Given the description of an element on the screen output the (x, y) to click on. 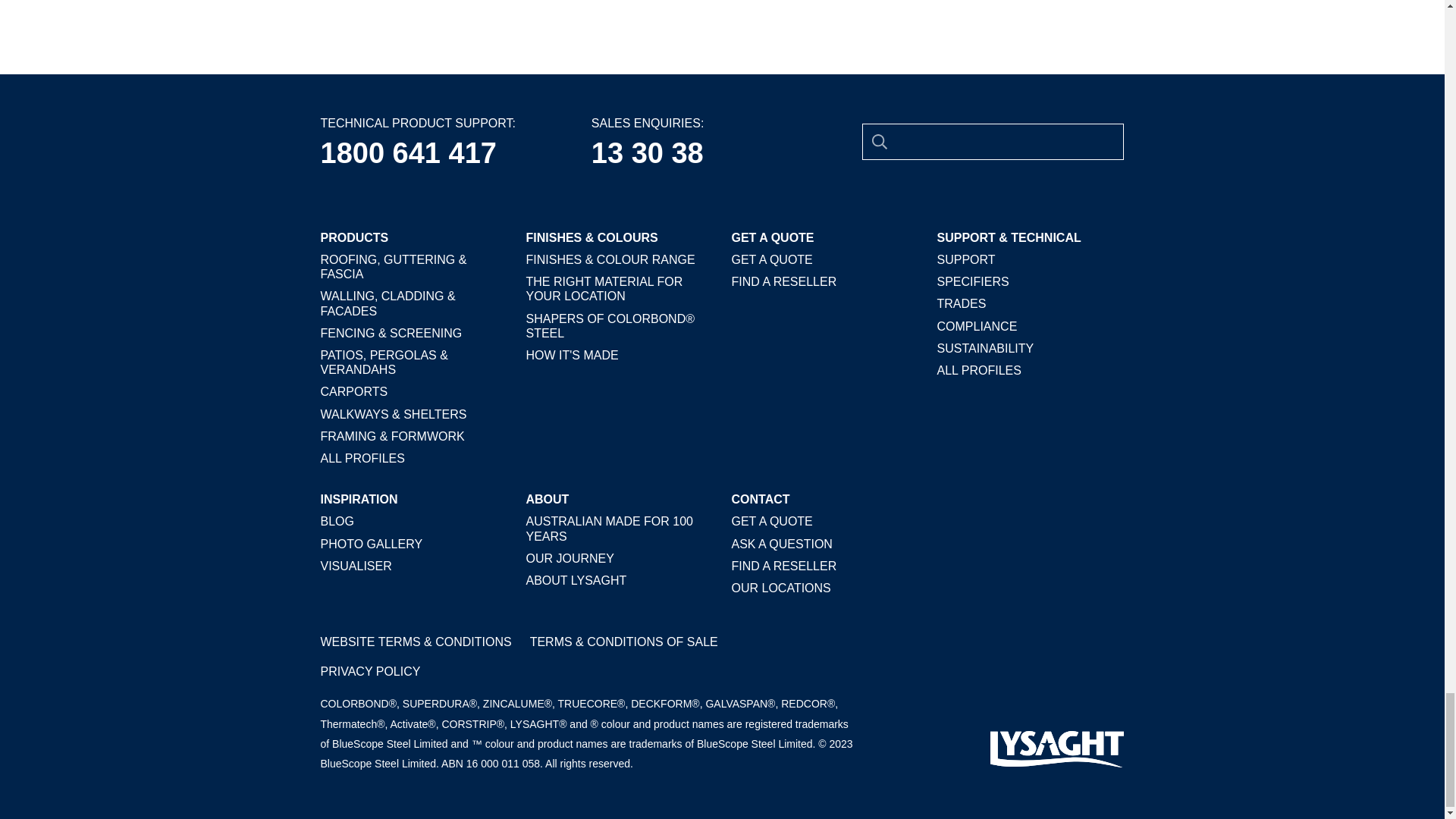
Search (878, 141)
